Given the description of an element on the screen output the (x, y) to click on. 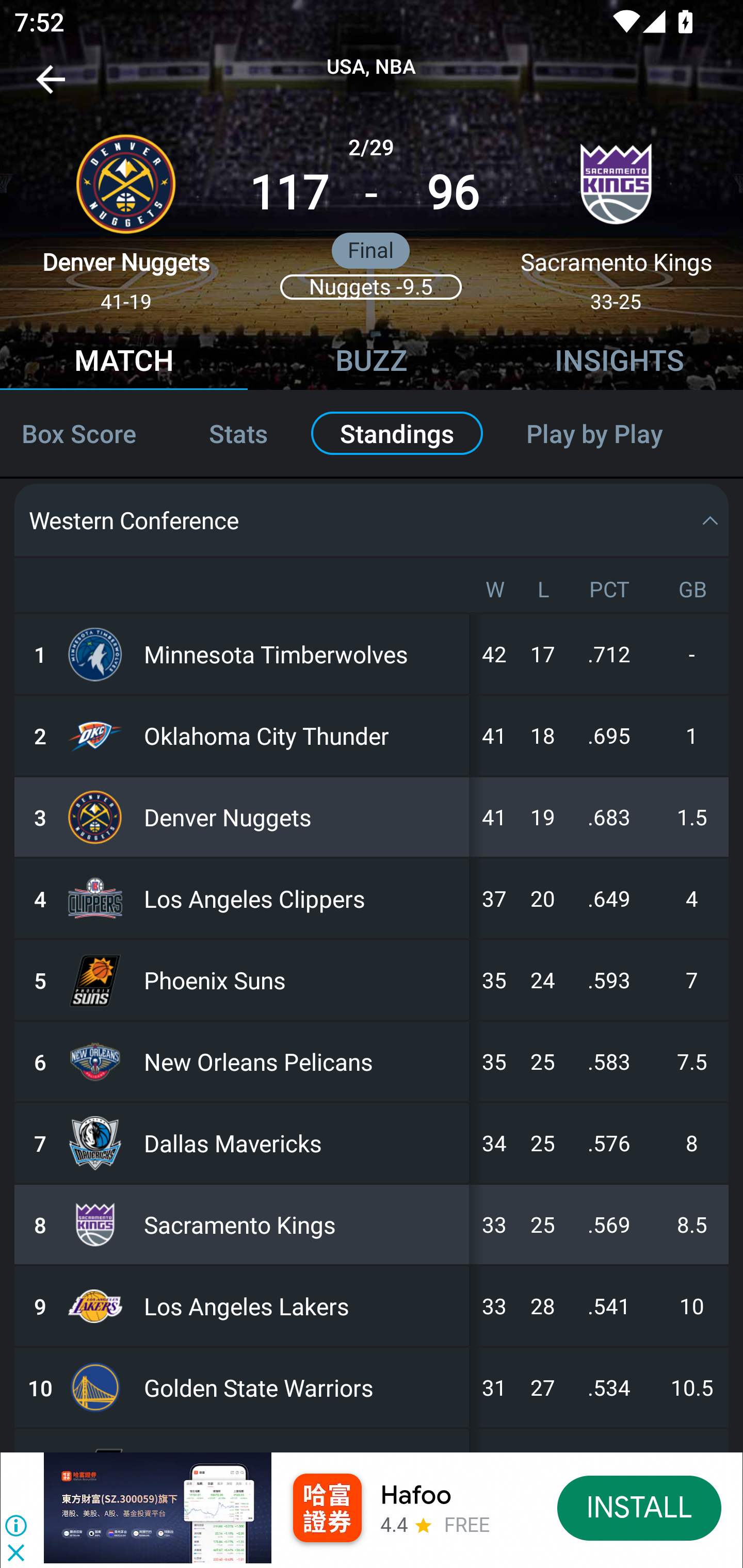
Navigate up (50, 86)
USA, NBA (371, 66)
Denver Nuggets 41-19 (126, 214)
Sacramento Kings 33-25 (616, 214)
117 (288, 192)
96 (453, 192)
MATCH (123, 362)
BUZZ (371, 362)
INSIGHTS (619, 362)
Box Score (86, 433)
Stats (238, 433)
Play by Play (616, 433)
Eastern Conference (371, 440)
Western Conference (371, 520)
1 Minnesota Timberwolves 42 17 .712 - (371, 653)
Minnesota Timberwolves (302, 653)
2 Oklahoma City Thunder 41 18 .695 1 (371, 735)
Oklahoma City Thunder (302, 735)
3 Denver Nuggets 41 19 .683 1.5 (371, 816)
Denver Nuggets (302, 816)
4 Los Angeles Clippers 37 20 .649 4 (371, 898)
Los Angeles Clippers (302, 898)
5 Phoenix Suns 35 24 .593 7 (371, 979)
Phoenix Suns (302, 979)
6 New Orleans Pelicans 35 25 .583 7.5 (371, 1061)
New Orleans Pelicans (302, 1061)
7 Dallas Mavericks 34 25 .576 8 (371, 1142)
Dallas Mavericks (302, 1142)
8 Sacramento Kings 33 25 .569 8.5 (371, 1224)
Sacramento Kings (302, 1224)
9 Los Angeles Lakers 33 28 .541 10 (371, 1305)
Los Angeles Lakers (302, 1305)
10 Golden State Warriors 31 27 .534 10.5 (371, 1387)
Golden State Warriors (302, 1387)
INSTALL (639, 1507)
Hafoo (416, 1494)
